Given the description of an element on the screen output the (x, y) to click on. 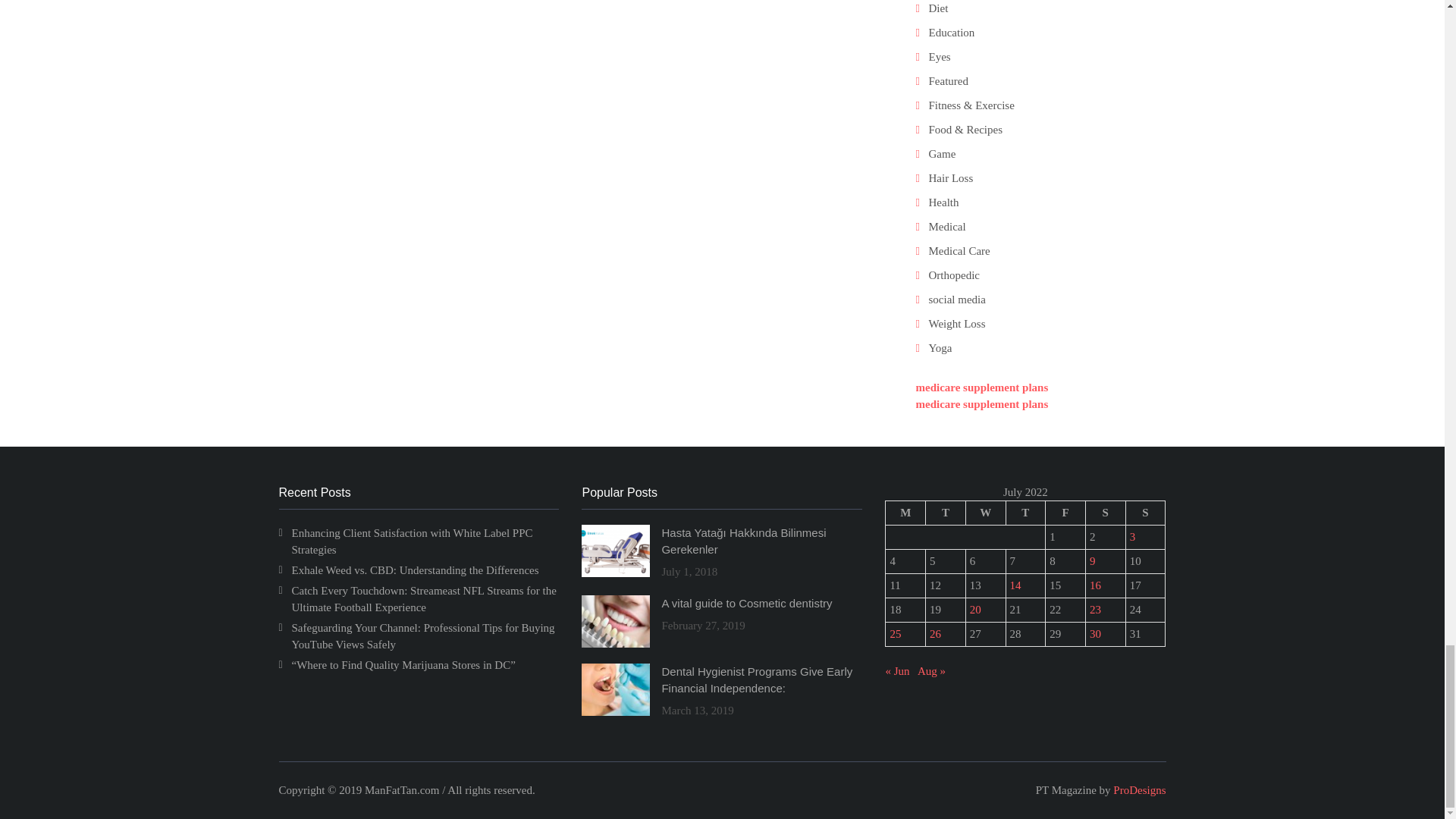
Saturday (1104, 512)
Tuesday (946, 512)
Sunday (1145, 512)
Monday (905, 512)
Thursday (1025, 512)
Wednesday (985, 512)
Friday (1065, 512)
